Given the description of an element on the screen output the (x, y) to click on. 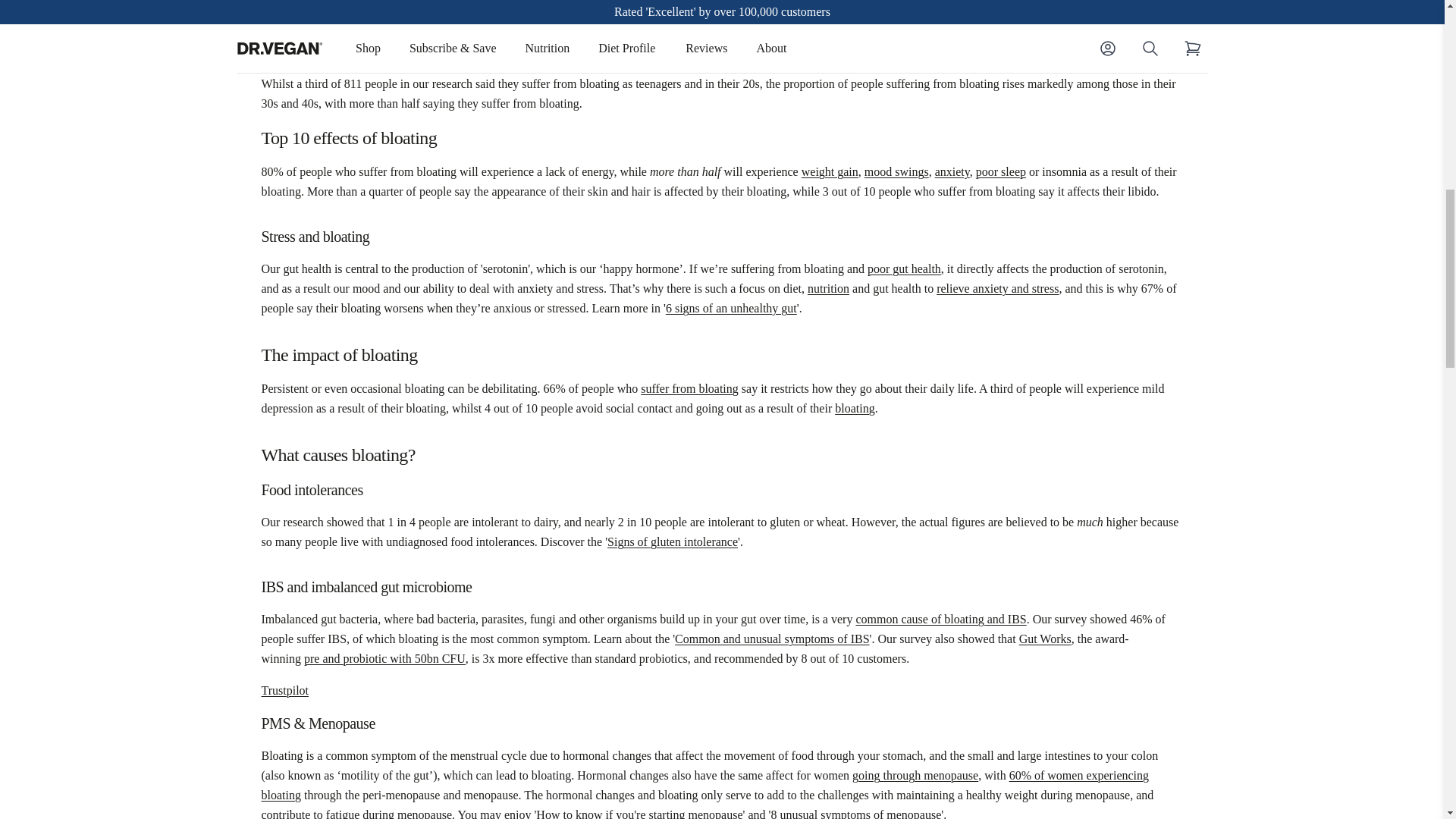
bloating and ibs (941, 618)
6 signs of an unhealthy gut (903, 268)
anxiety (951, 171)
symptoms of ibs (772, 638)
causes of bloating (331, 2)
debloat supplement (689, 388)
nutrition articles (828, 287)
bloating supplements (570, 18)
best foods to debloat (854, 408)
losing weight (830, 171)
gut works probiotic (384, 658)
menopause mood swings (896, 171)
menopause bloating (704, 785)
best detox and debloat supplement (828, 2)
gut works probiotics stress (997, 287)
